Given the description of an element on the screen output the (x, y) to click on. 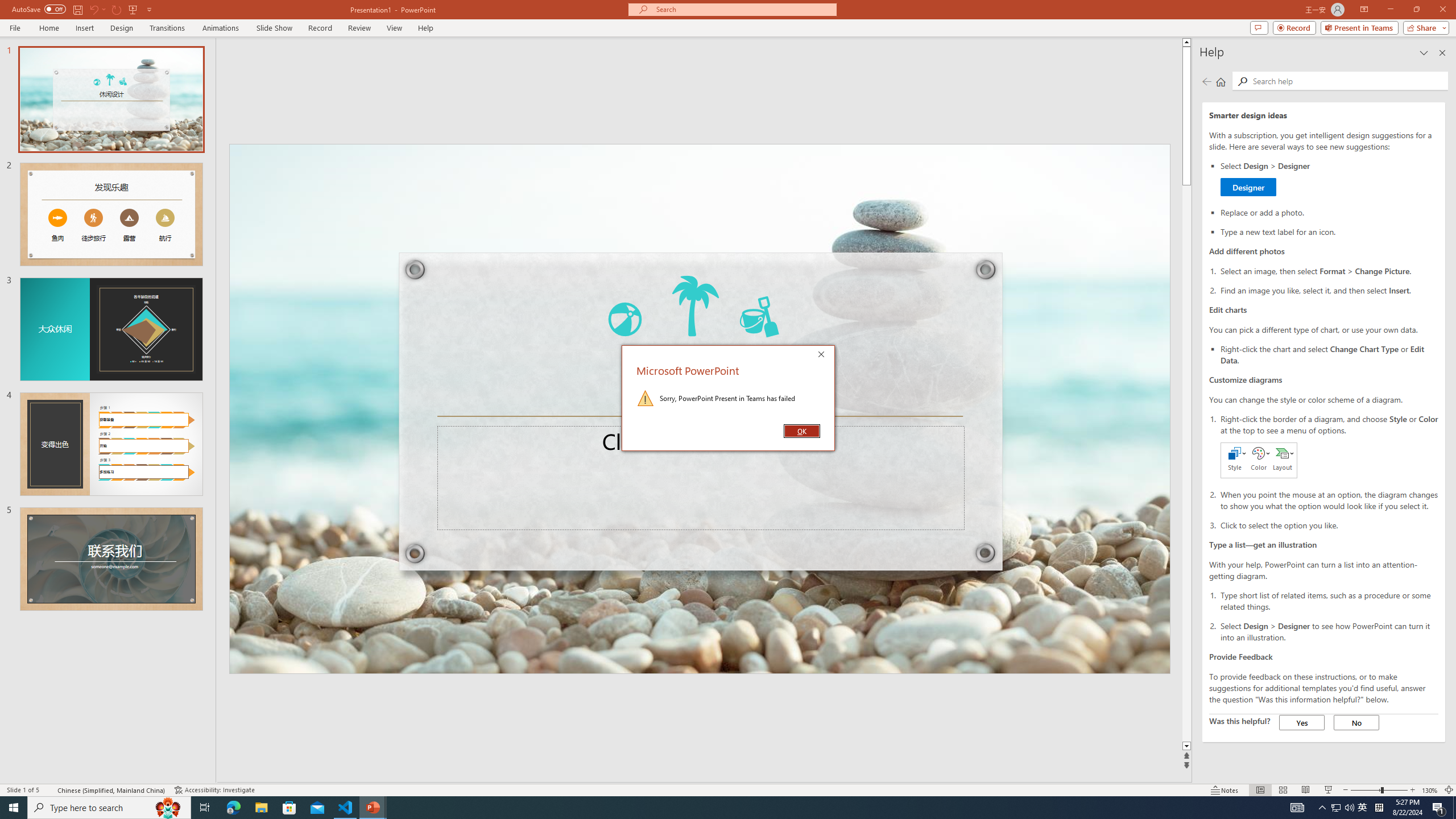
Yes (1329, 178)
No (1301, 722)
